Given the description of an element on the screen output the (x, y) to click on. 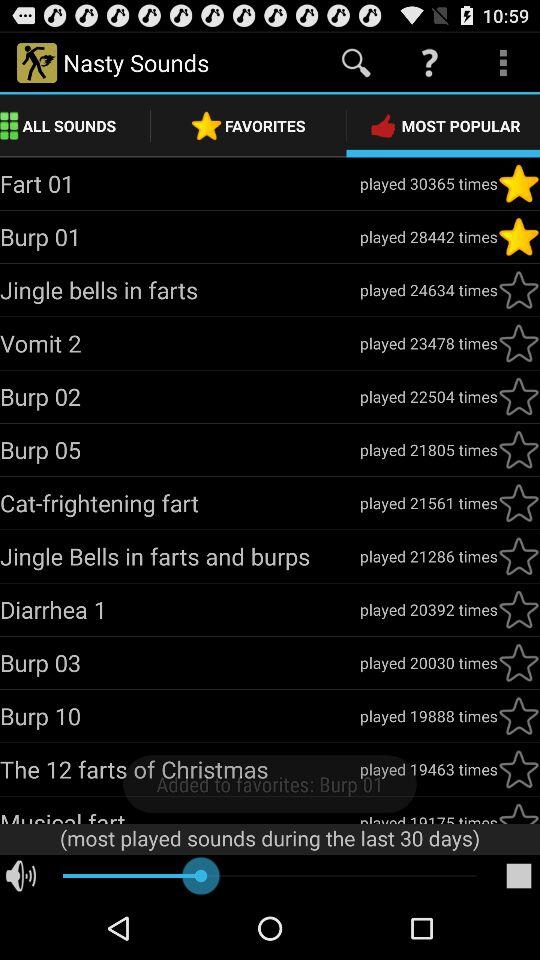
important to know (519, 450)
